Given the description of an element on the screen output the (x, y) to click on. 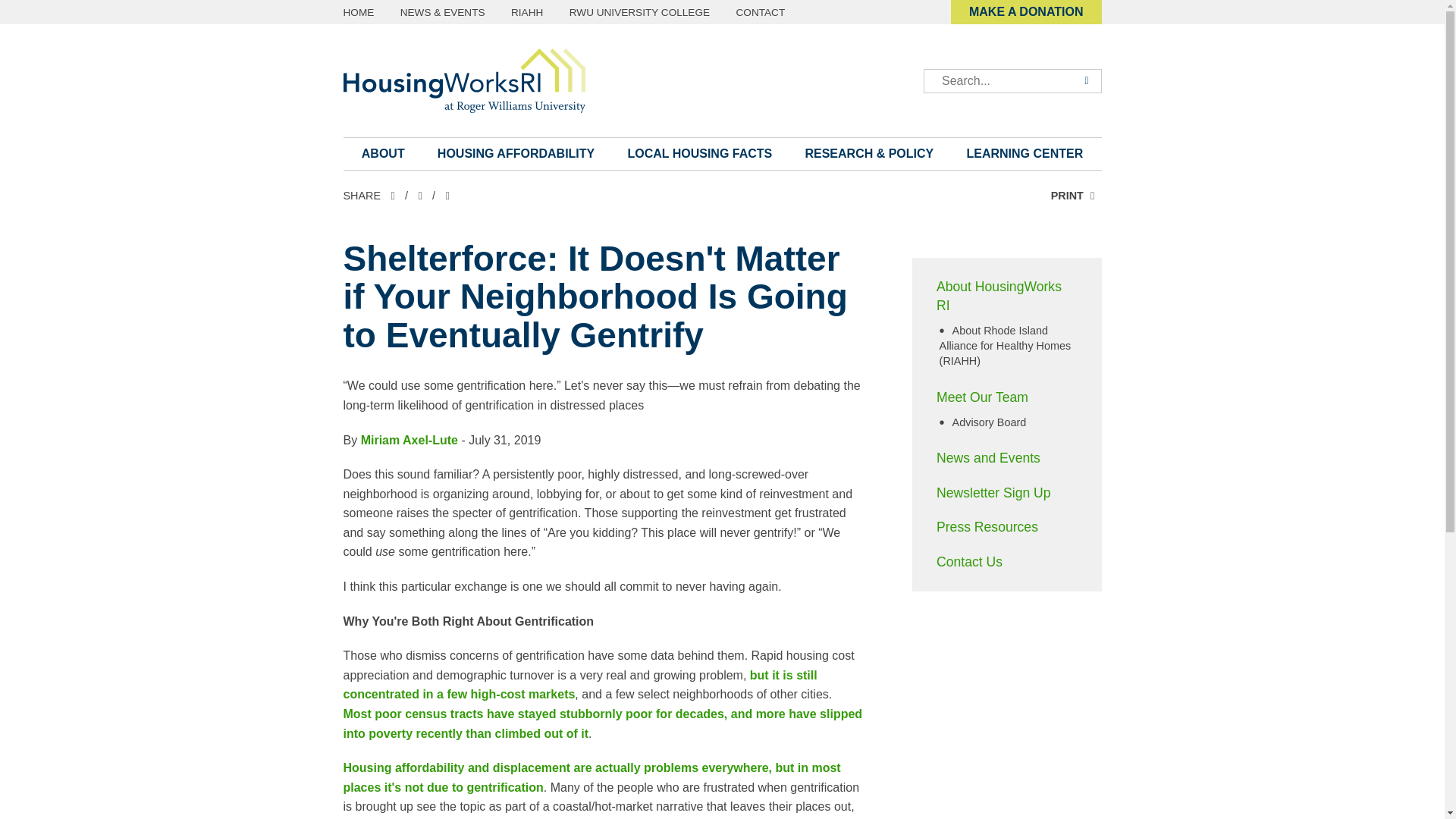
RWU UNIVERSITY COLLEGE (639, 12)
Submit Search (1085, 79)
HOUSING AFFORDABILITY (515, 153)
LOCAL HOUSING FACTS (700, 153)
MAKE A DONATION (1026, 12)
RIAHH (527, 12)
HOME (358, 12)
ABOUT (382, 153)
CONTACT (761, 12)
